Given the description of an element on the screen output the (x, y) to click on. 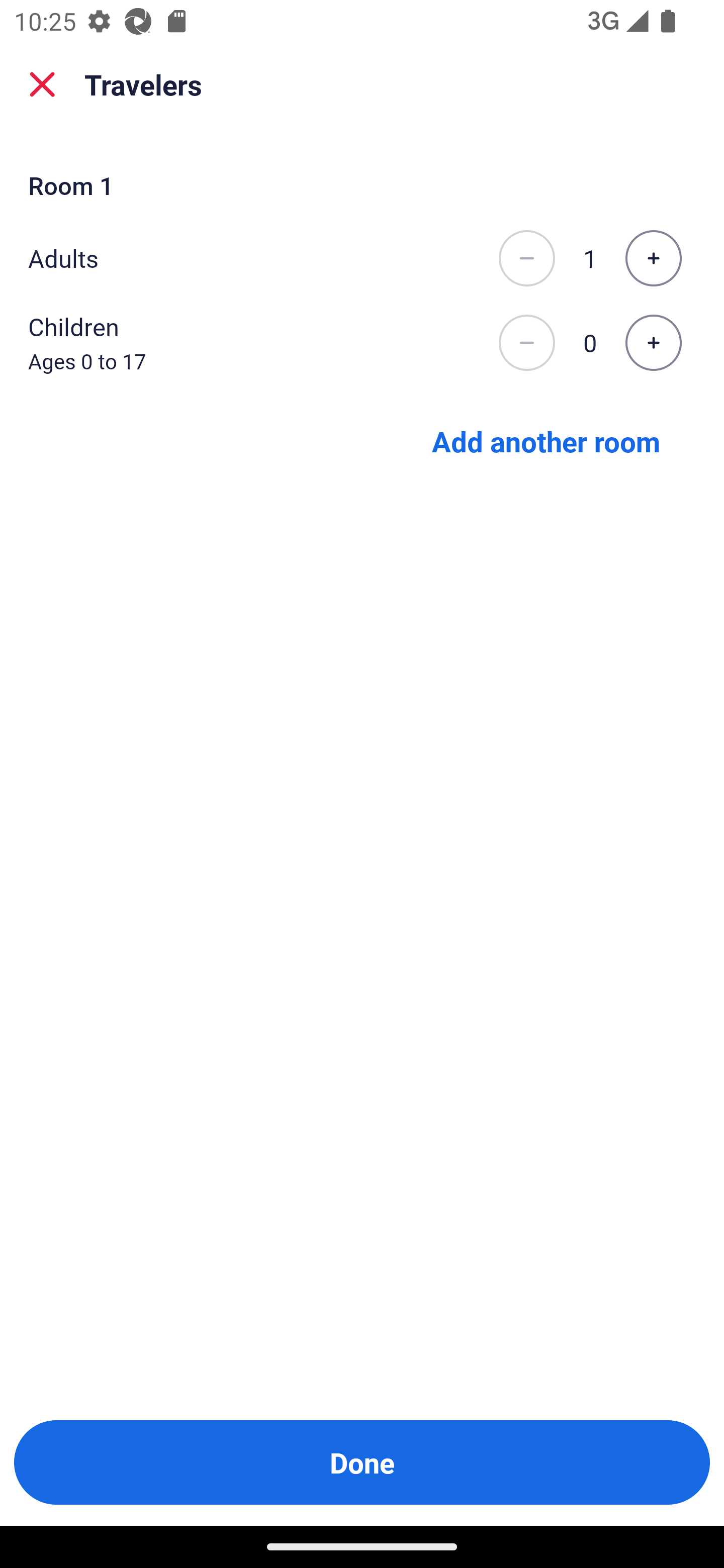
close (42, 84)
Decrease the number of adults (526, 258)
Increase the number of adults (653, 258)
Decrease the number of children (526, 343)
Increase the number of children (653, 343)
Add another room (545, 440)
Done (361, 1462)
